Given the description of an element on the screen output the (x, y) to click on. 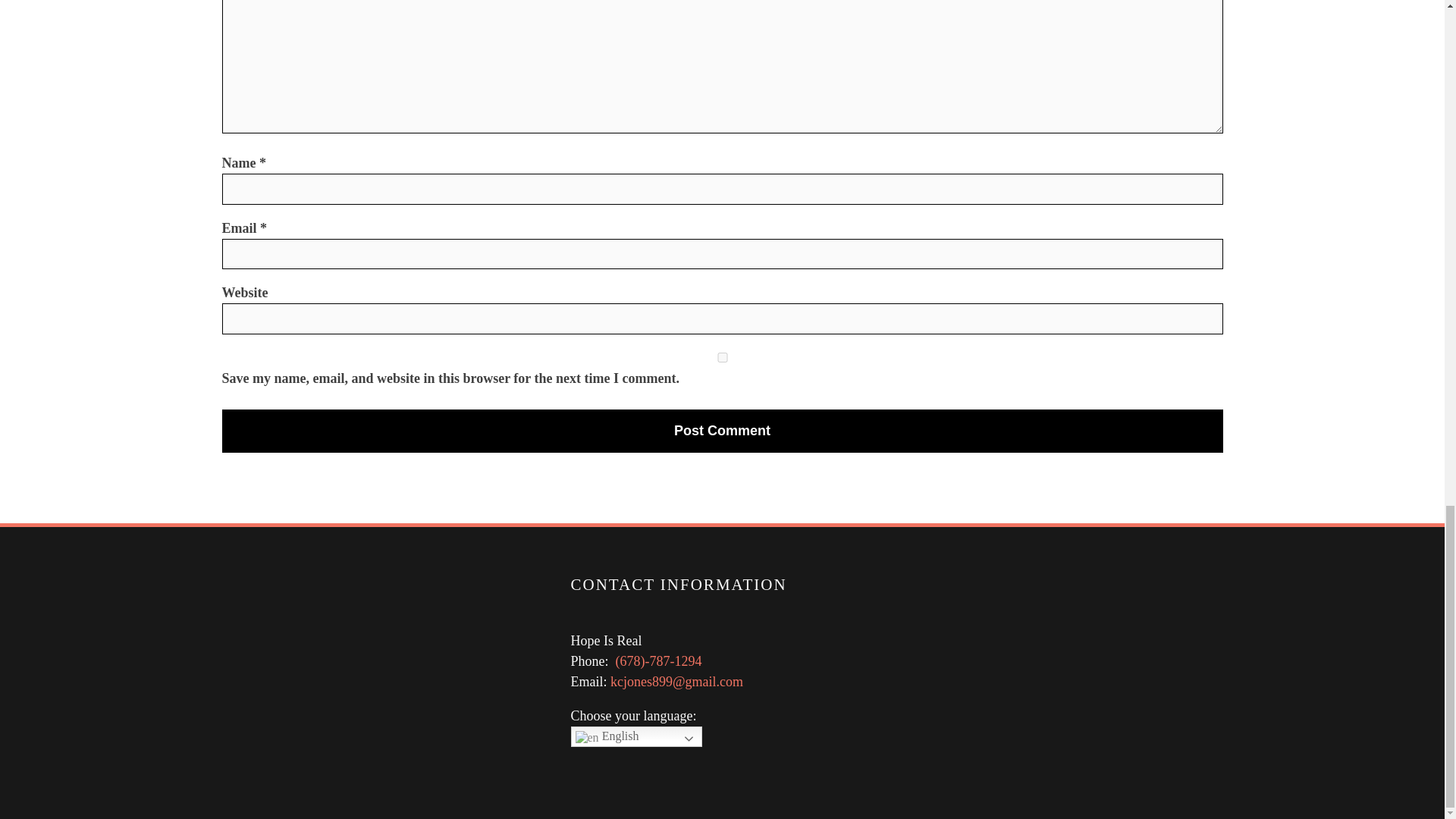
Post Comment (722, 430)
English (635, 736)
Post Comment (722, 430)
